Given the description of an element on the screen output the (x, y) to click on. 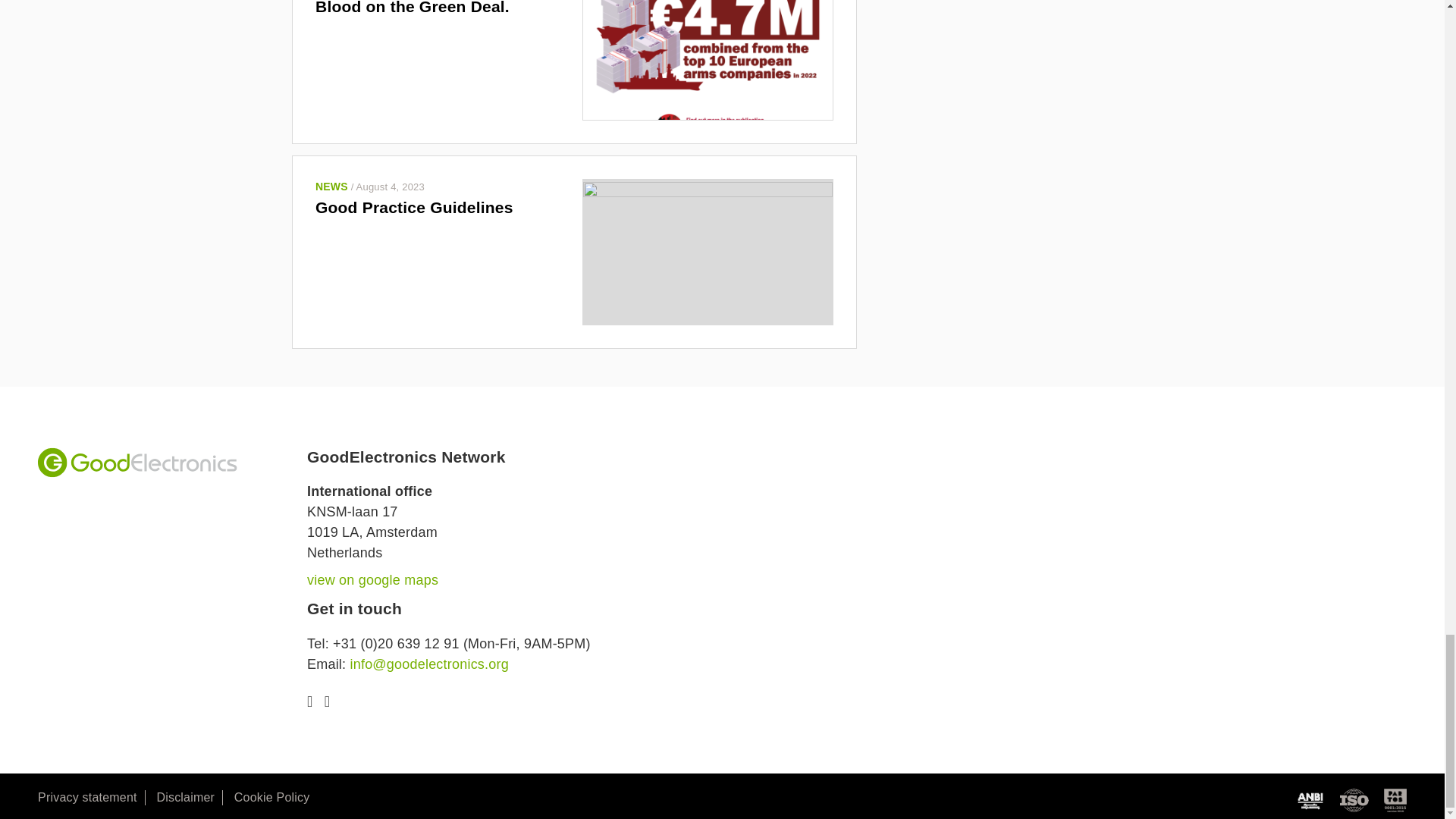
ANBI (1309, 800)
Partos (1395, 800)
GoodElectronics (137, 462)
ISO (1353, 800)
